Given the description of an element on the screen output the (x, y) to click on. 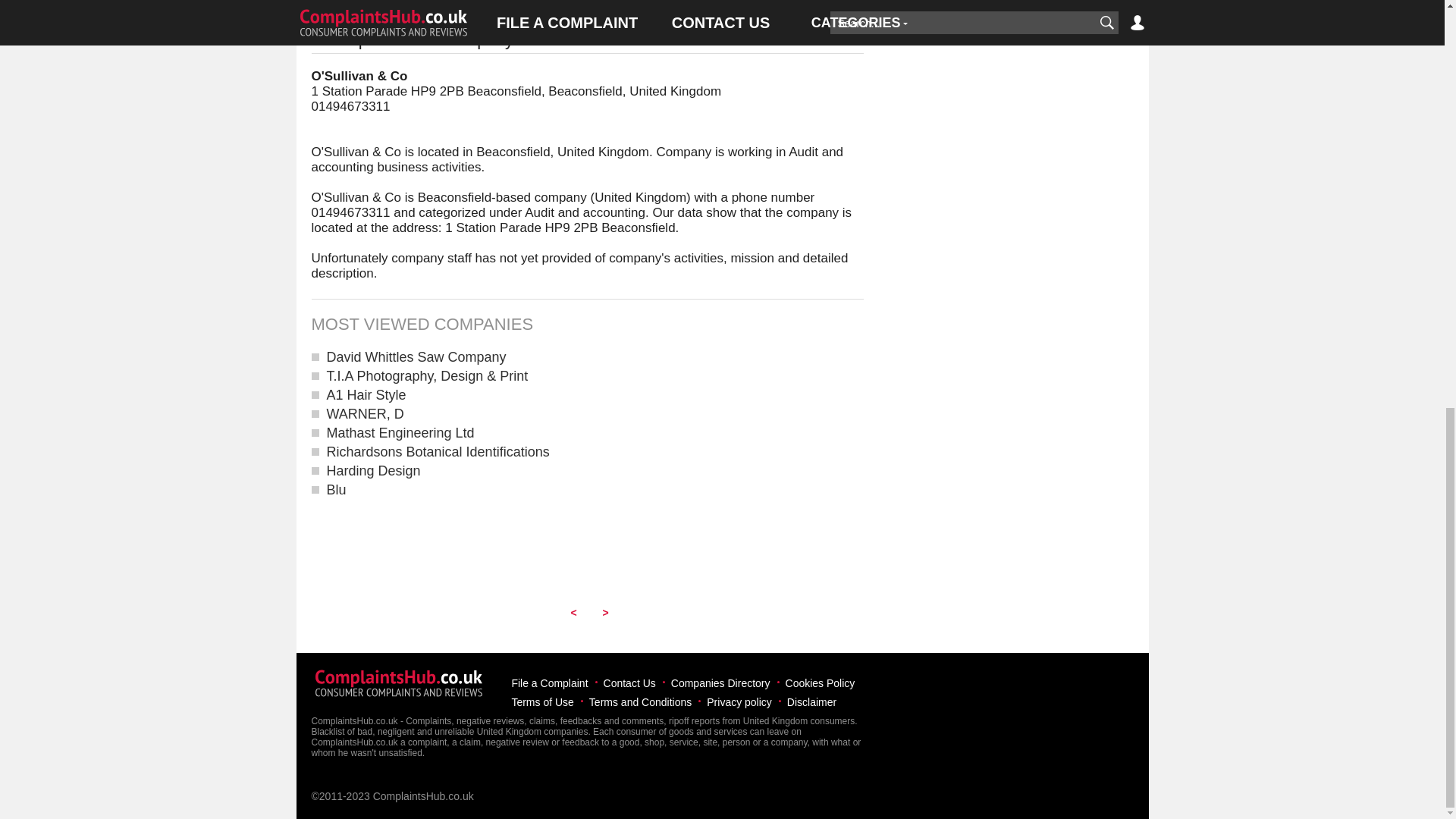
Next Company: Richard Ready Magician (604, 610)
Previous Company: Starbucks Coffee (572, 610)
Advertisement (587, 3)
